Given the description of an element on the screen output the (x, y) to click on. 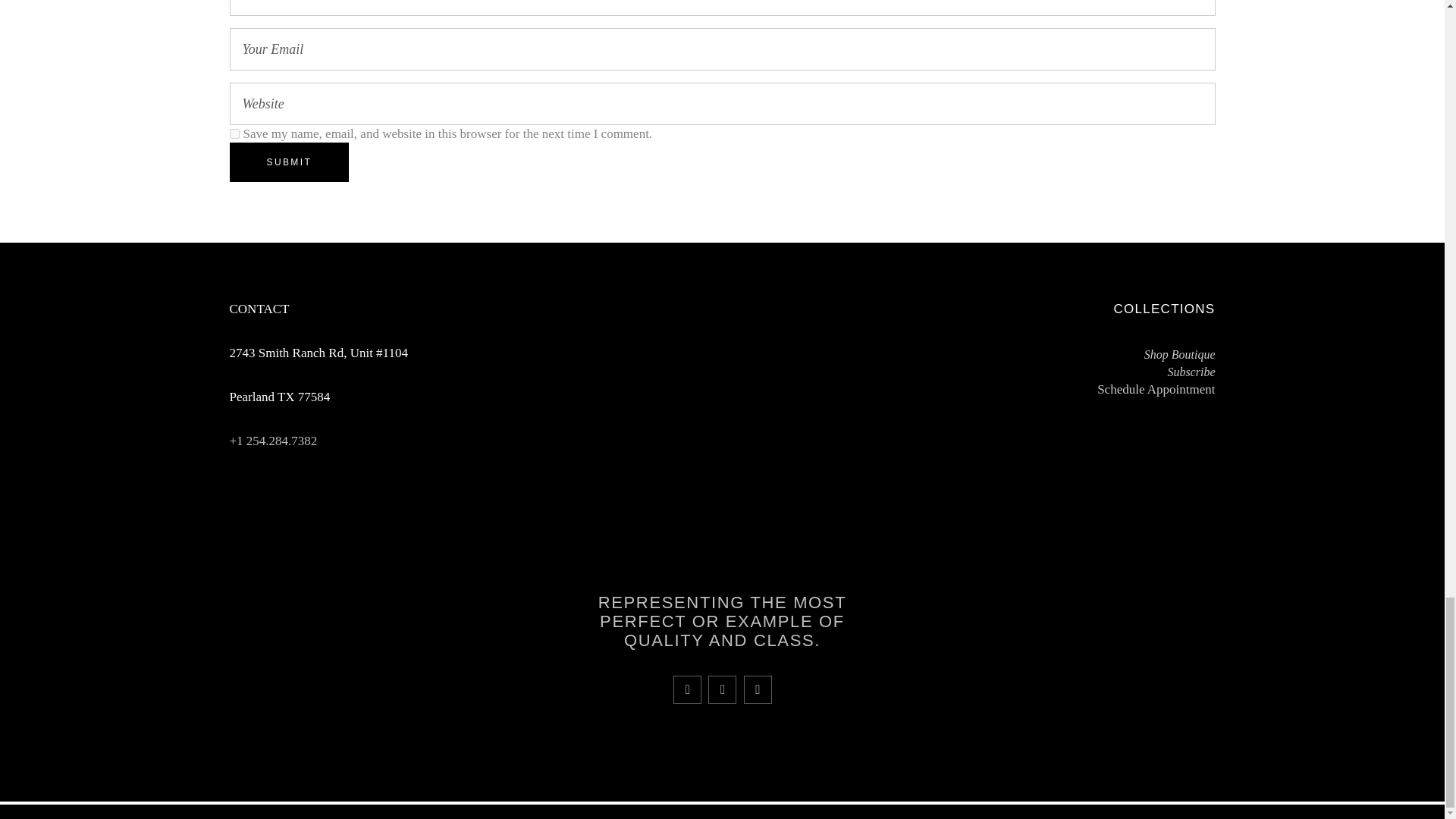
yes (233, 133)
